Given the description of an element on the screen output the (x, y) to click on. 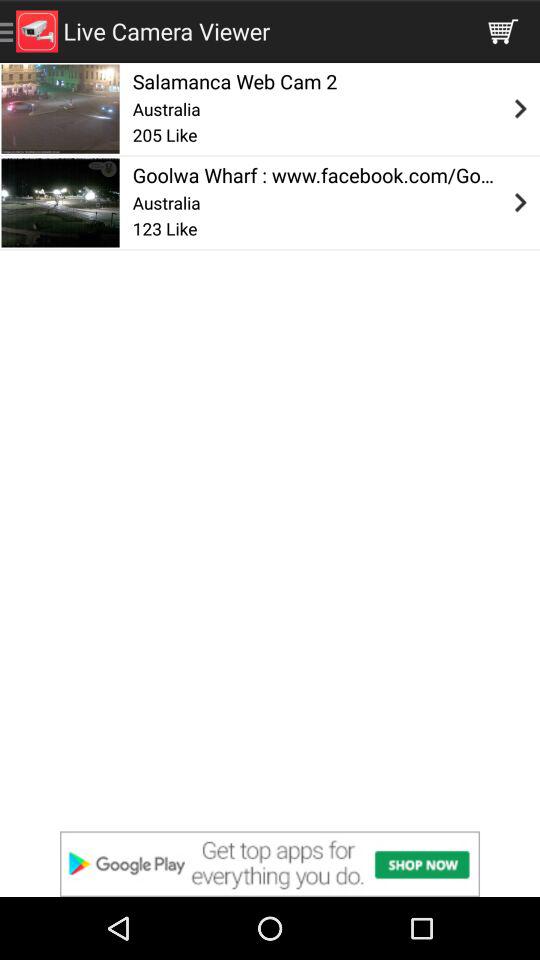
advertisement for google play (270, 864)
